Given the description of an element on the screen output the (x, y) to click on. 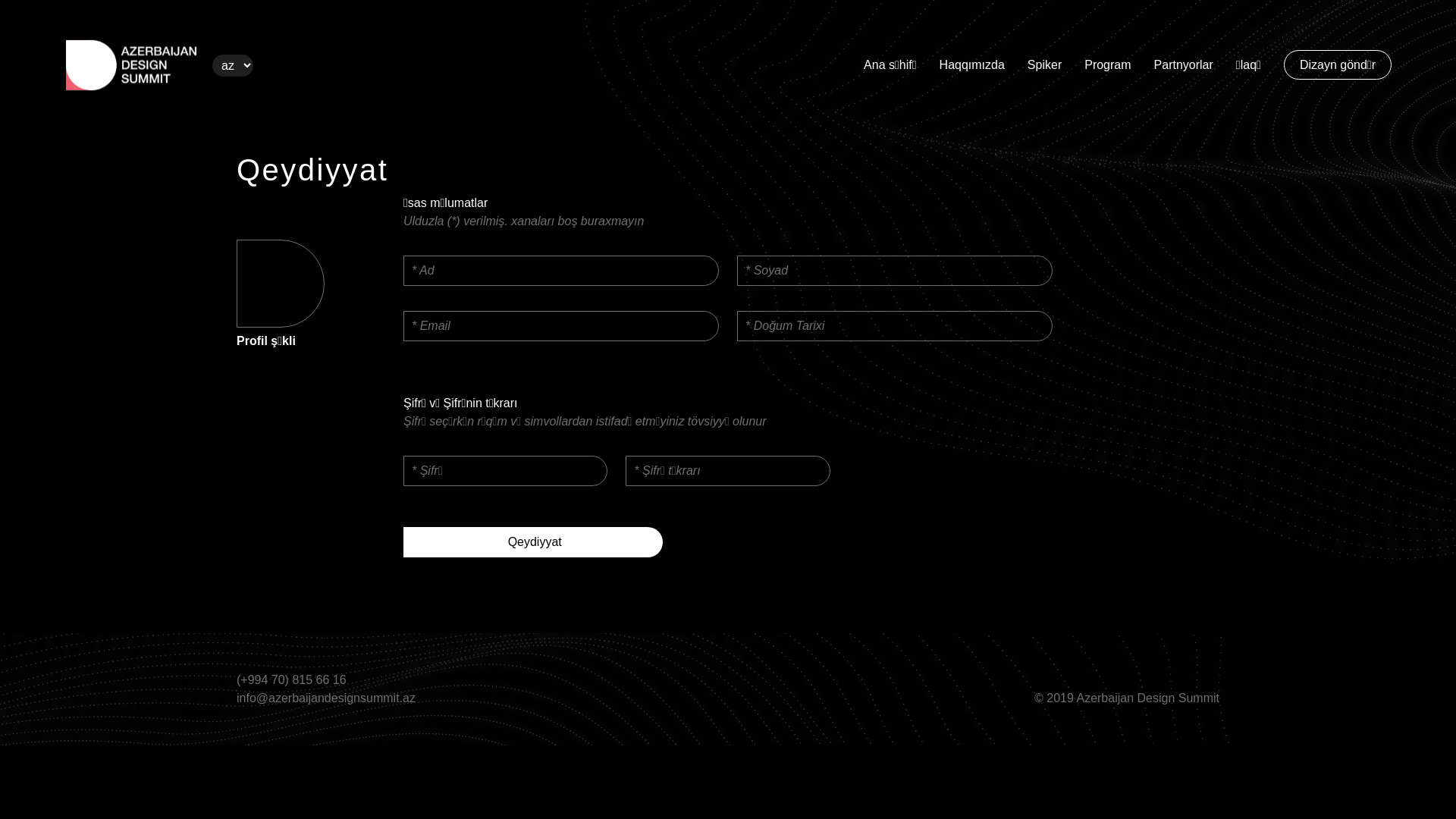
Qeydiyyat Element type: text (532, 542)
Program Element type: text (1107, 64)
(+994 70) 815 66 16 Element type: text (359, 680)
info@azerbaijandesignsummit.az Element type: text (359, 698)
Partnyorlar Element type: text (1183, 64)
Spiker Element type: text (1044, 64)
